Given the description of an element on the screen output the (x, y) to click on. 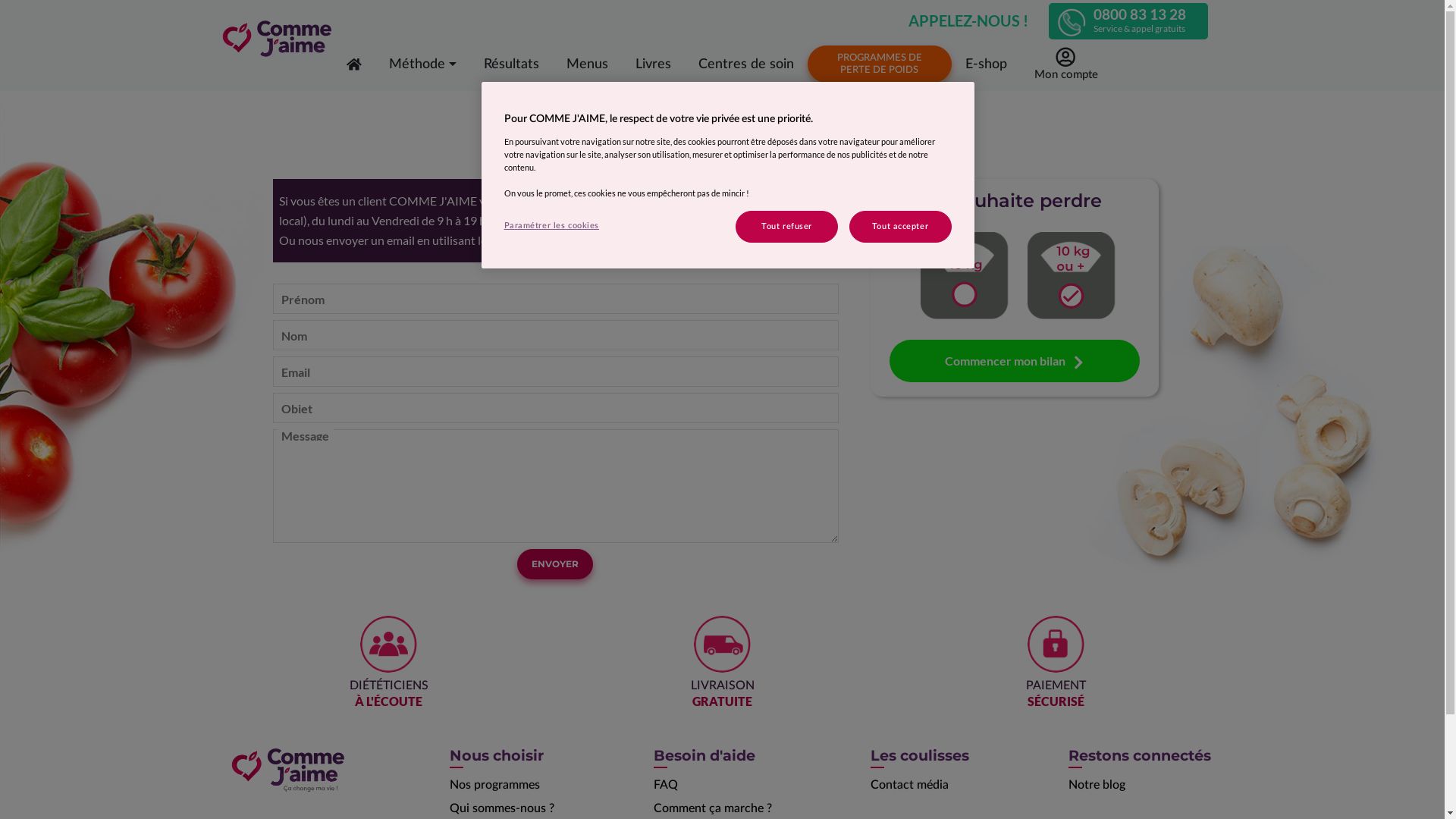
ENVOYER Element type: text (555, 564)
Qui sommes-nous ? Element type: text (501, 808)
Tout accepter Element type: text (900, 226)
Centres de soin Element type: text (745, 63)
FAQ Element type: text (665, 784)
0800 83 13 28
Service & appel gratuits Element type: text (1128, 20)
PROGRAMMES DE PERTE DE POIDS Element type: text (879, 63)
E-shop Element type: text (985, 63)
Menus Element type: text (586, 63)
Notre blog Element type: text (1095, 784)
Tout refuser Element type: text (786, 226)
Nos programmes Element type: text (494, 784)
Livres Element type: text (652, 63)
Commencer mon bilan Element type: text (1013, 360)
Mon compte Element type: text (1065, 63)
